Given the description of an element on the screen output the (x, y) to click on. 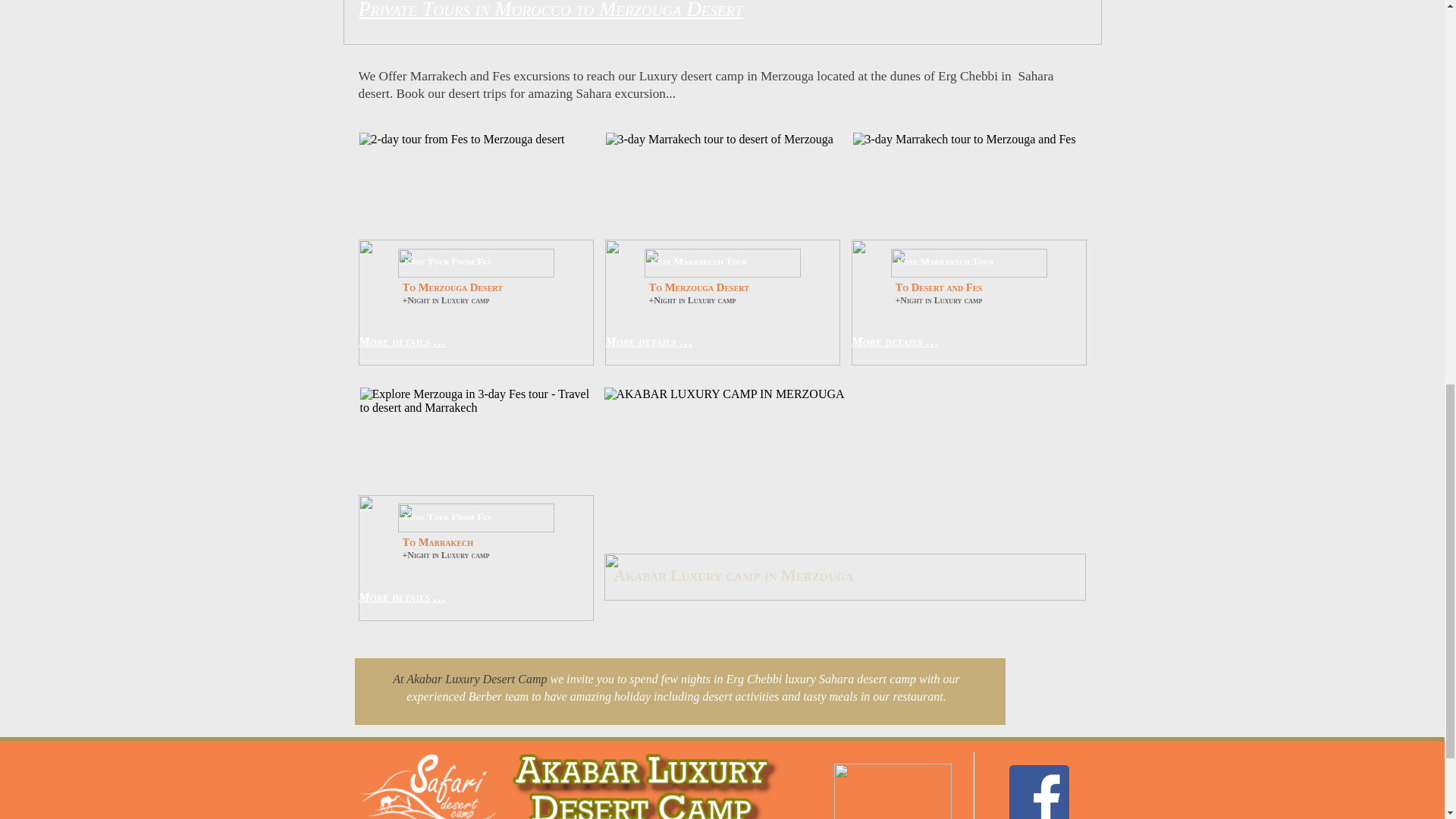
3-day Marrakech tour to desert of Merzouga (722, 204)
AKABAR LUXURY CAMP IN MERZOUGA (844, 504)
2-day tour from Fes to Merzouga desert (476, 204)
3-day Marrakech tour to Merzouga and Fes (969, 204)
